Given the description of an element on the screen output the (x, y) to click on. 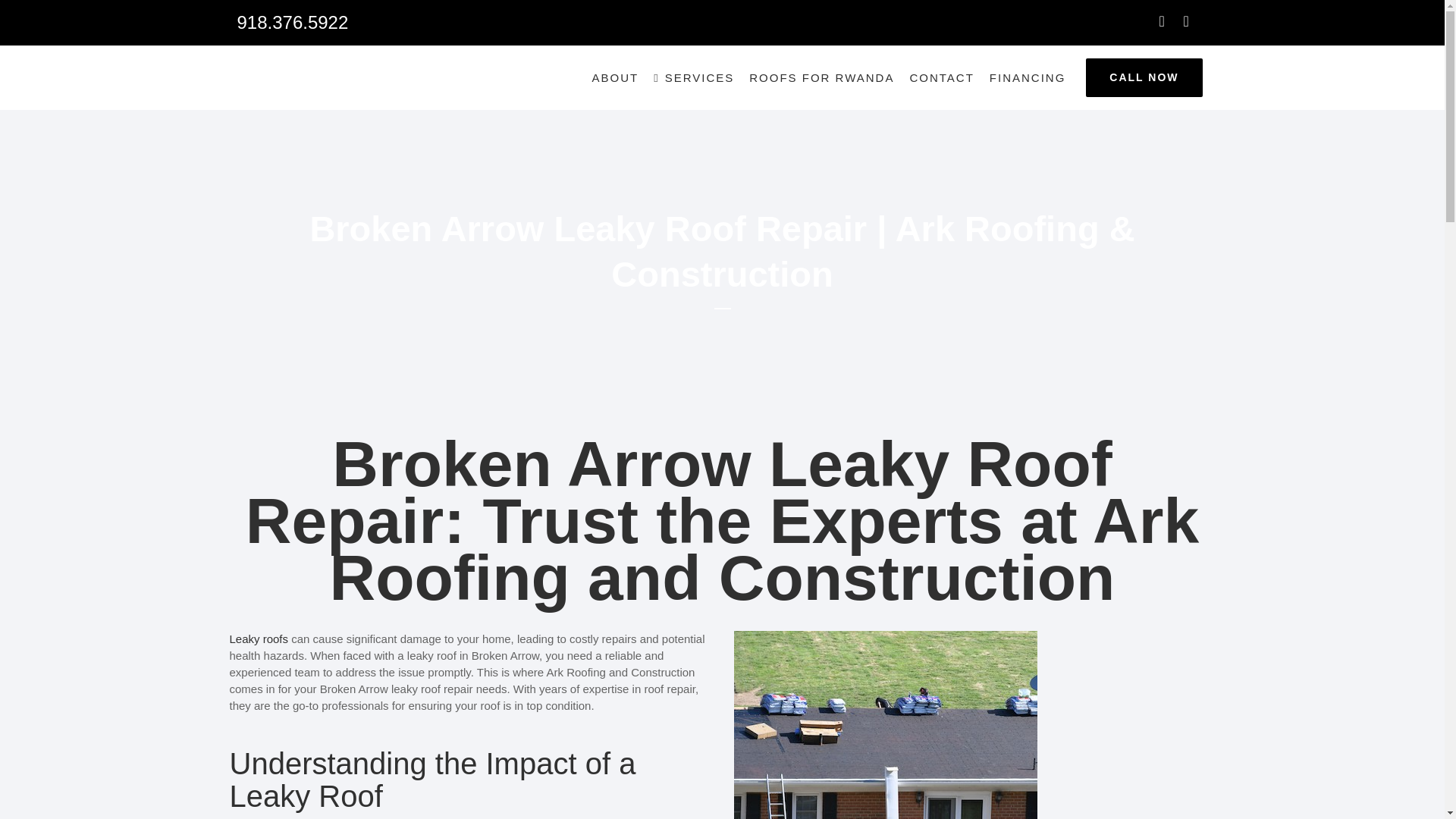
top Broken Arrow leaky roof repair company - Ark Roofing (884, 724)
Leaky roofs (258, 638)
918.376.5922 (291, 22)
ABOUT (614, 77)
ROOFS FOR RWANDA (821, 77)
CALL NOW (1144, 77)
SERVICES (693, 77)
CONTACT (941, 77)
FINANCING (1027, 77)
